Given the description of an element on the screen output the (x, y) to click on. 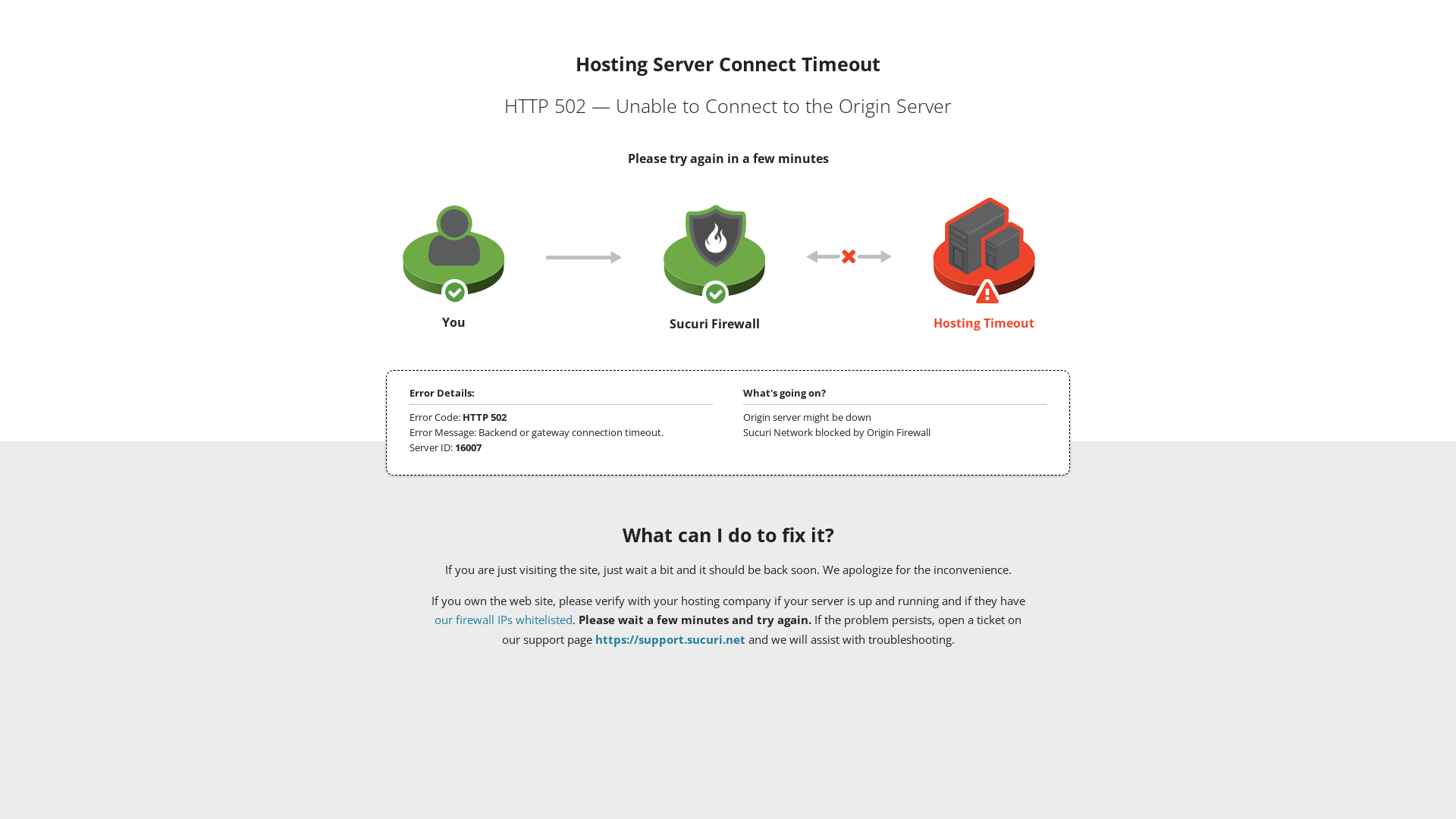
our firewall IPs whitelisted Element type: text (503, 619)
https://support.sucuri.net Element type: text (669, 638)
